Given the description of an element on the screen output the (x, y) to click on. 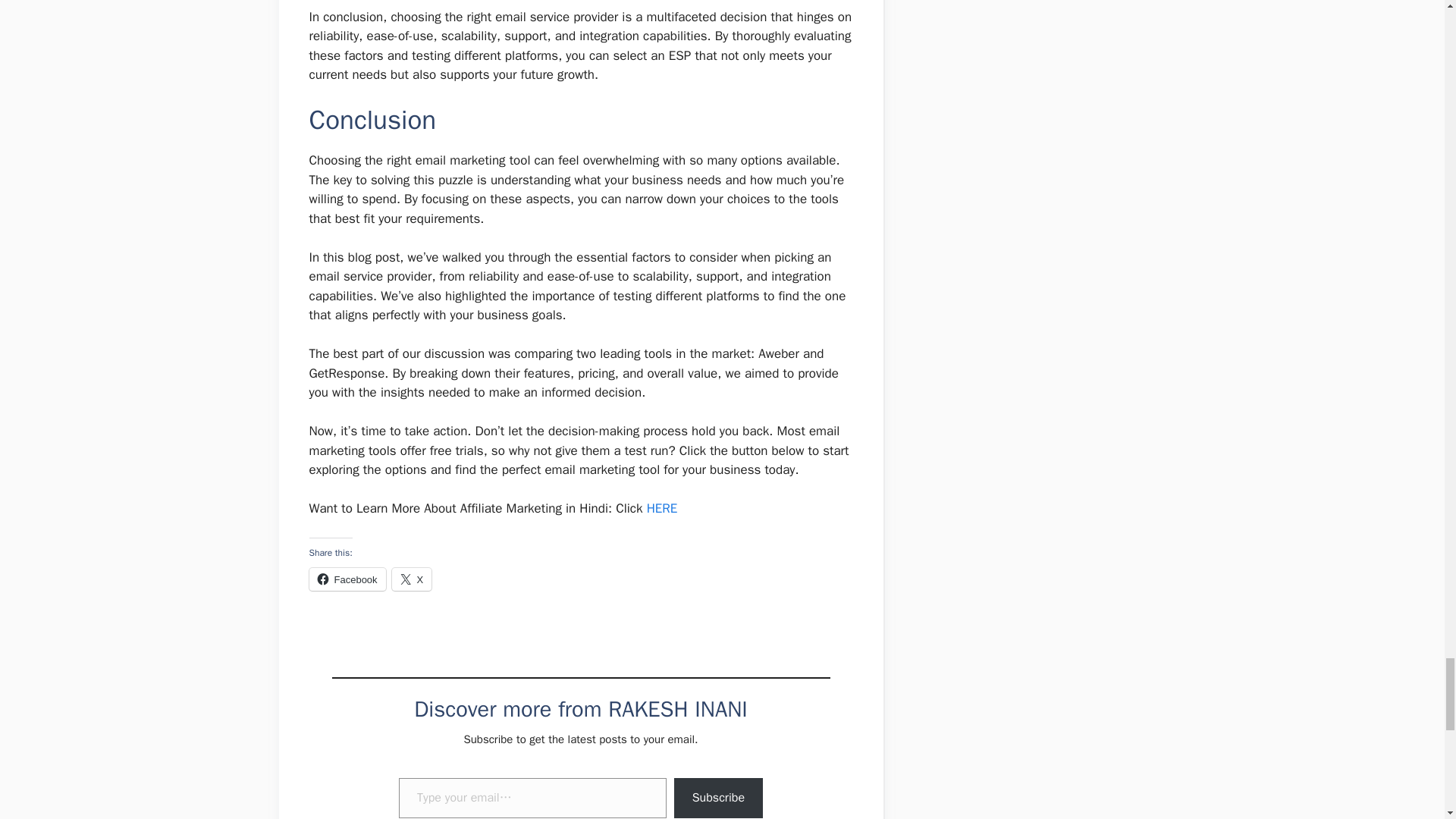
Click to share on X (411, 579)
Click to share on Facebook (346, 579)
Subscribe (718, 798)
Please fill in this field. (532, 798)
X (411, 579)
HERE (662, 508)
Facebook (346, 579)
